Given the description of an element on the screen output the (x, y) to click on. 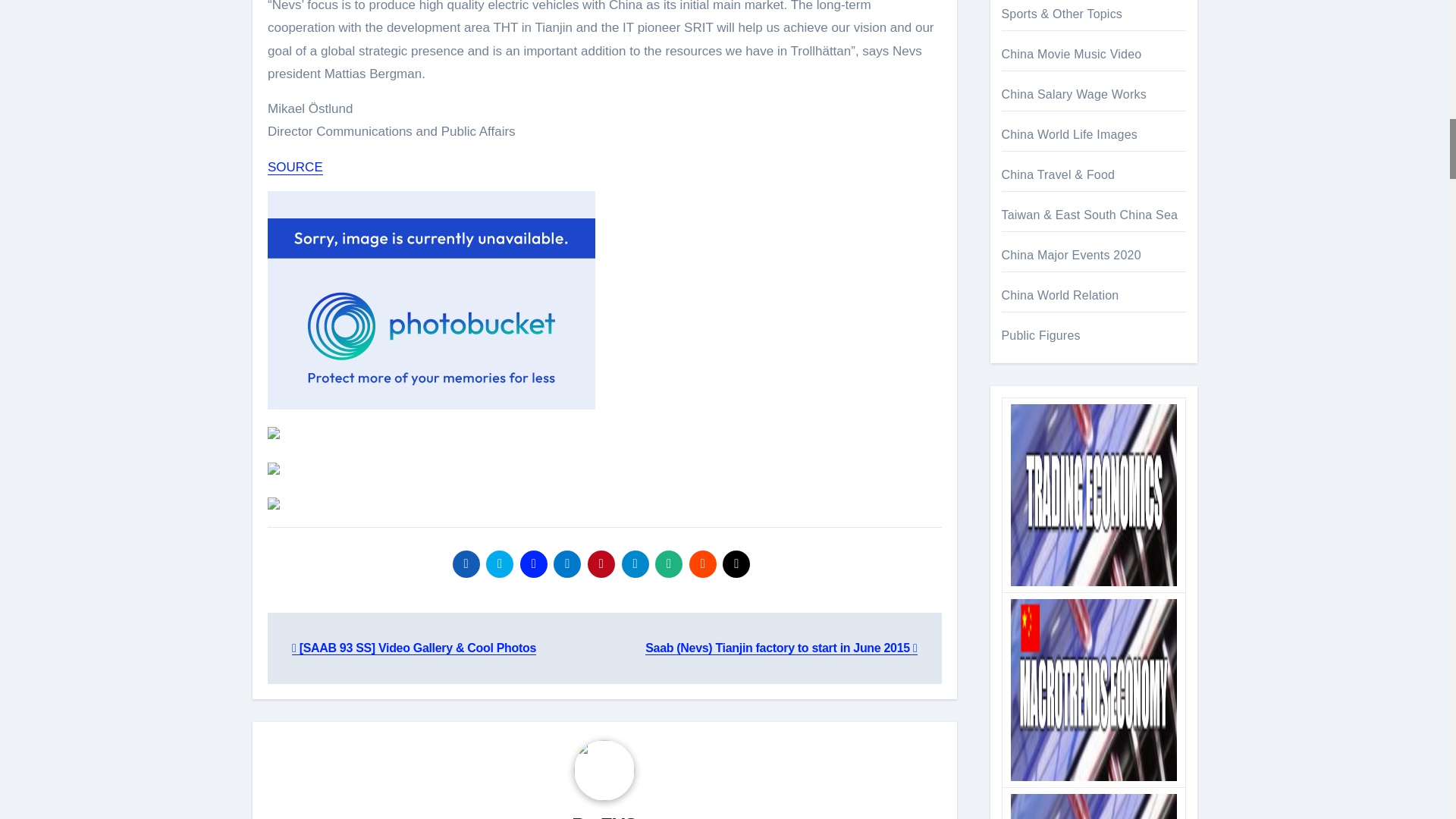
SOURCE (295, 166)
EVS (618, 816)
